Given the description of an element on the screen output the (x, y) to click on. 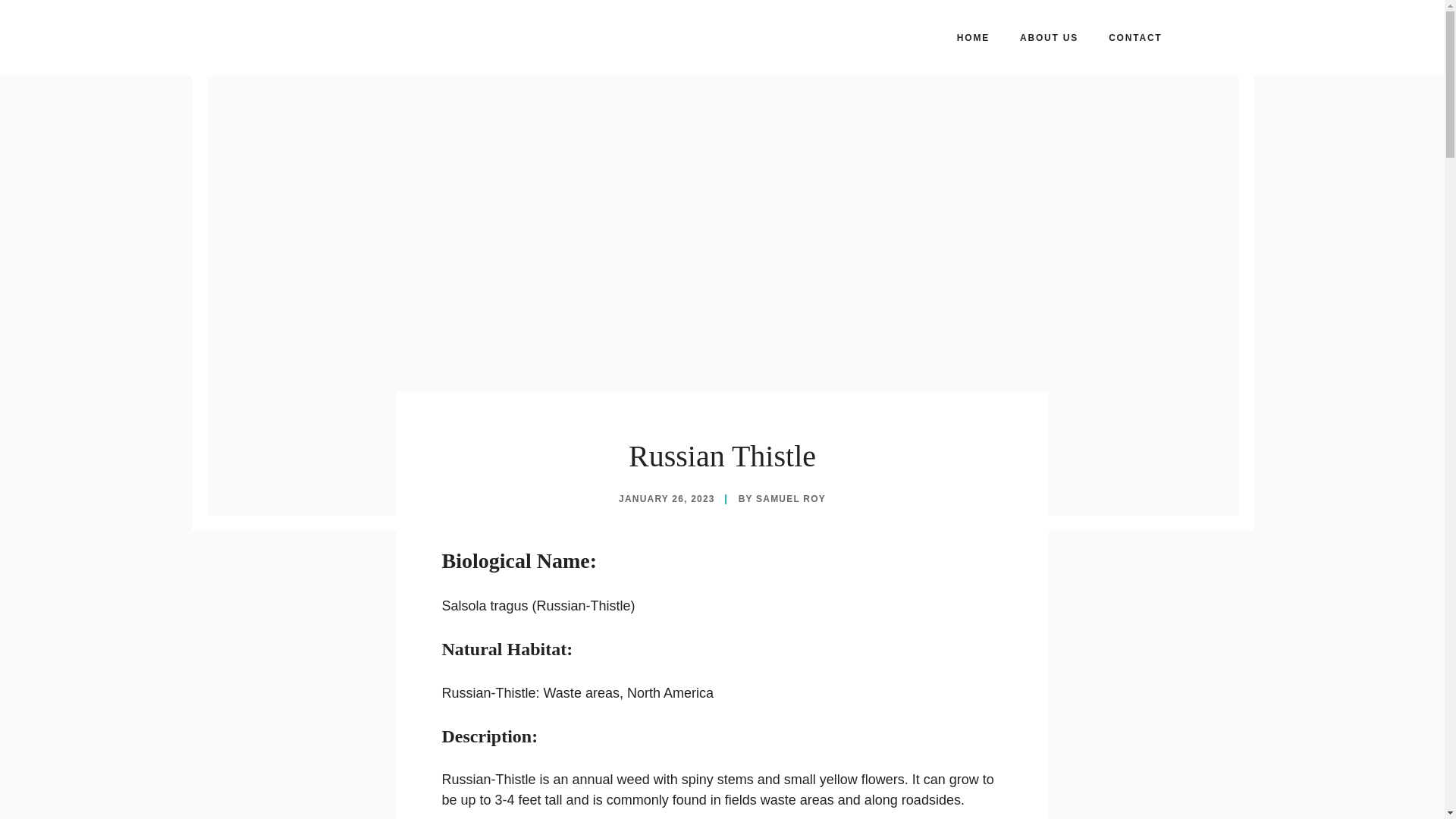
HOME (973, 37)
SAMUEL ROY (790, 498)
ABOUT US (1048, 37)
CONTACT (1134, 37)
